Given the description of an element on the screen output the (x, y) to click on. 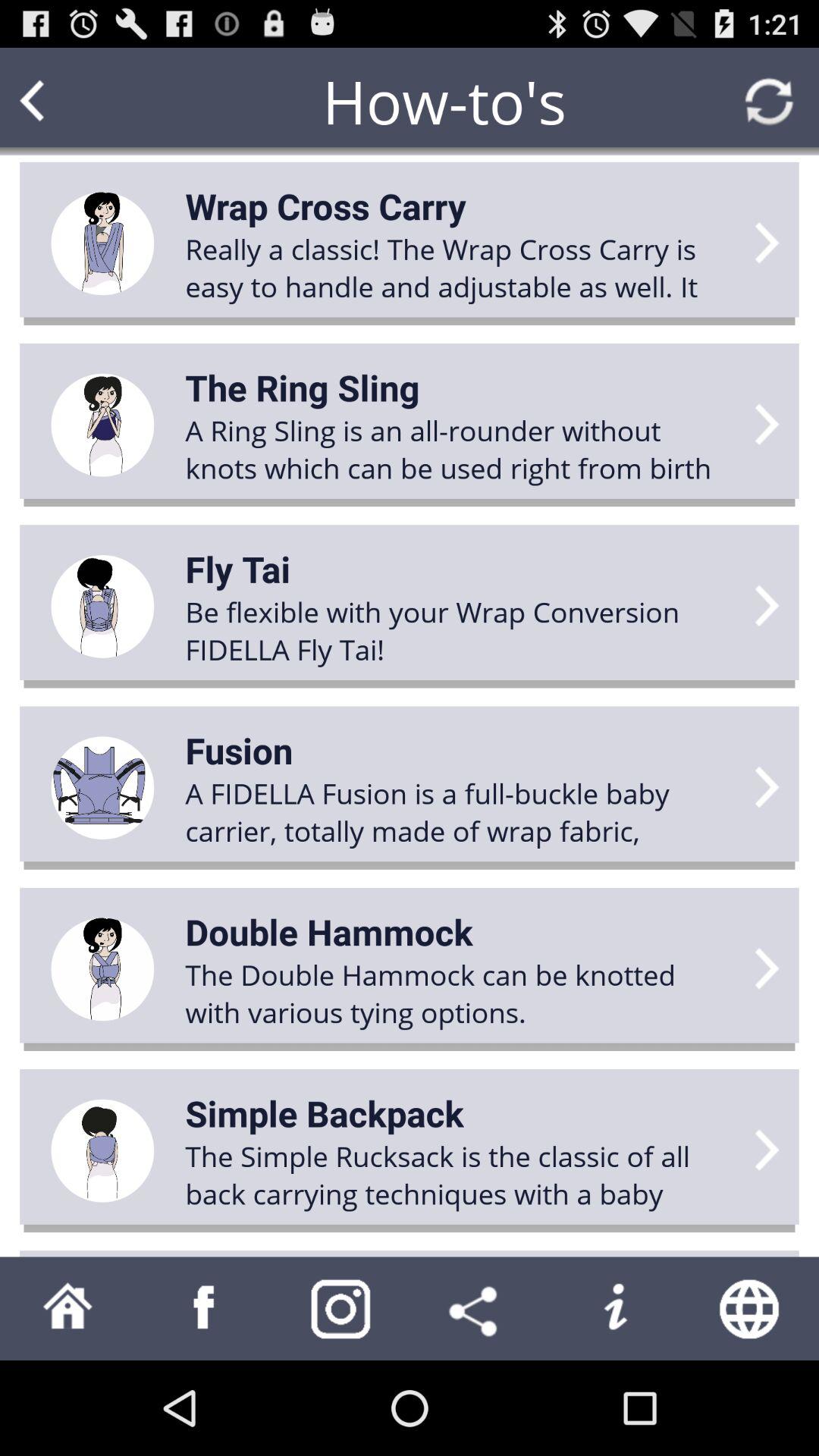
choose simple backpack icon (324, 1113)
